Given the description of an element on the screen output the (x, y) to click on. 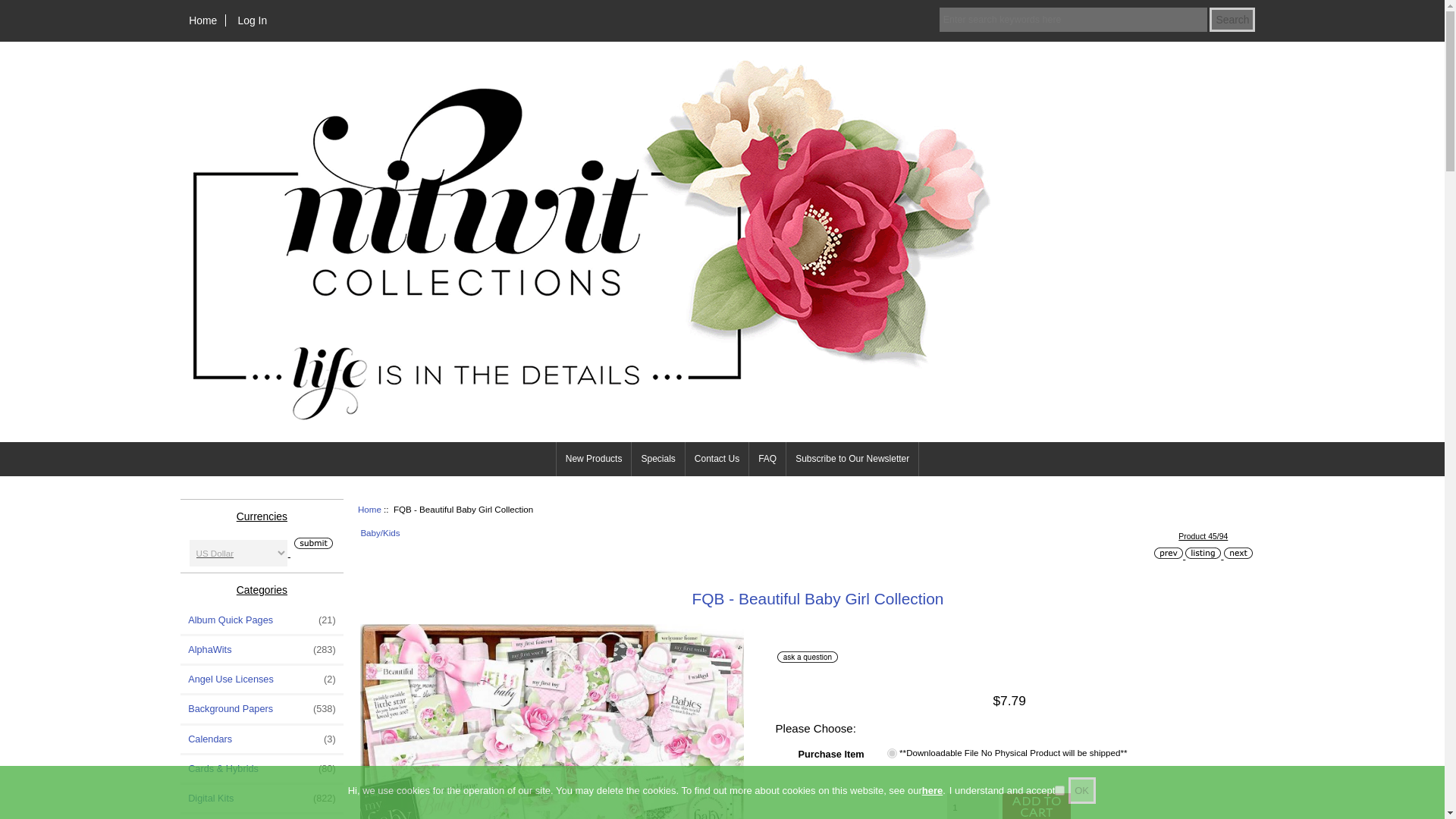
Previous (1168, 552)
Add to Cart (1034, 806)
1 (972, 806)
Home (202, 20)
Log In (251, 20)
Subscribe to Our Newsletter (852, 458)
Contact Us (716, 458)
Ask a Question (807, 656)
Specials (657, 458)
on (1059, 790)
